Given the description of an element on the screen output the (x, y) to click on. 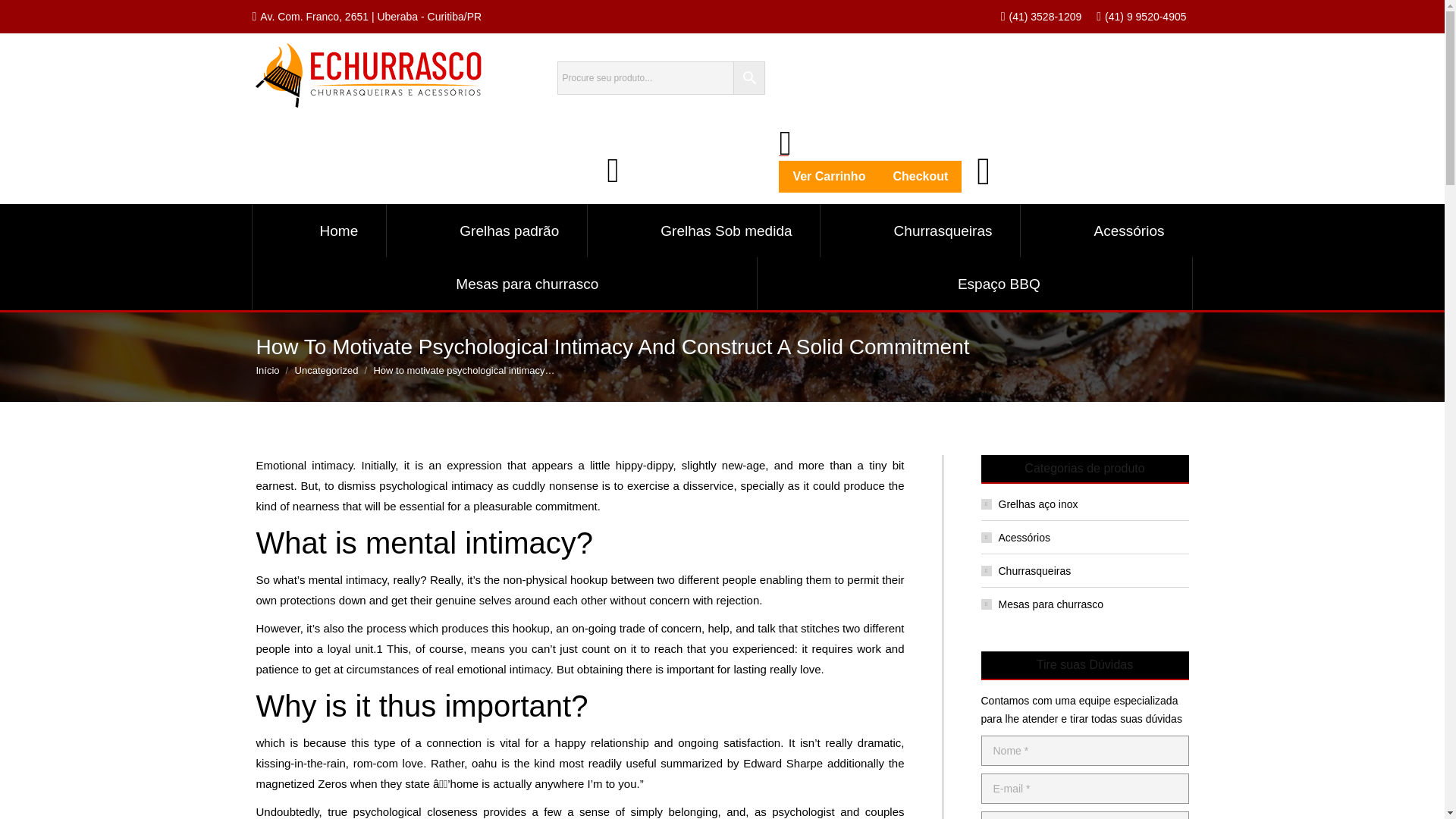
Home (315, 230)
Grelhas Sob medida (702, 230)
Go! (25, 16)
Churrasqueiras (920, 230)
Mesas para churrasco (504, 283)
Checkout (919, 176)
Ver Carrinho (828, 176)
